Given the description of an element on the screen output the (x, y) to click on. 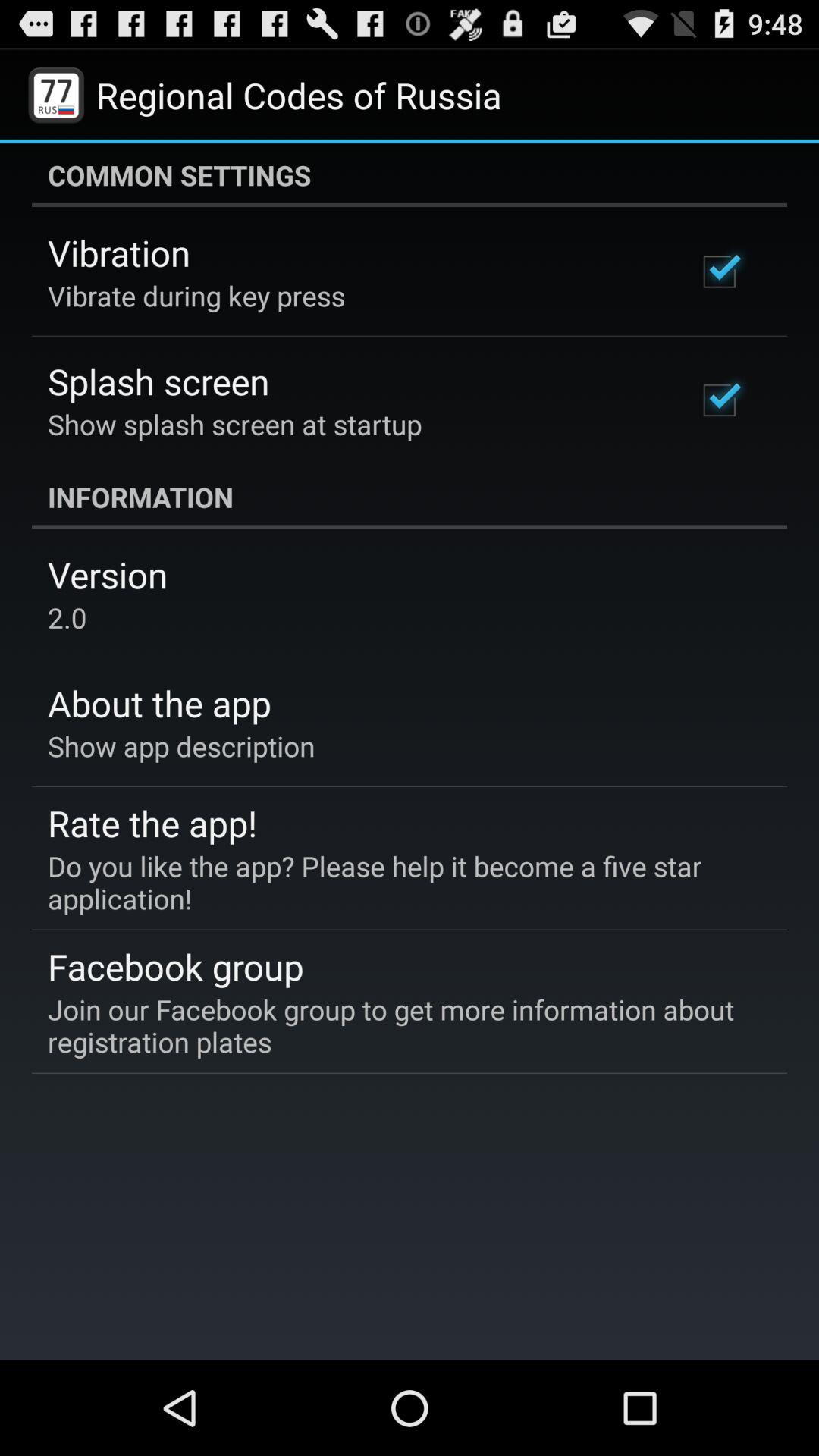
open the icon above the vibrate during key icon (118, 252)
